Given the description of an element on the screen output the (x, y) to click on. 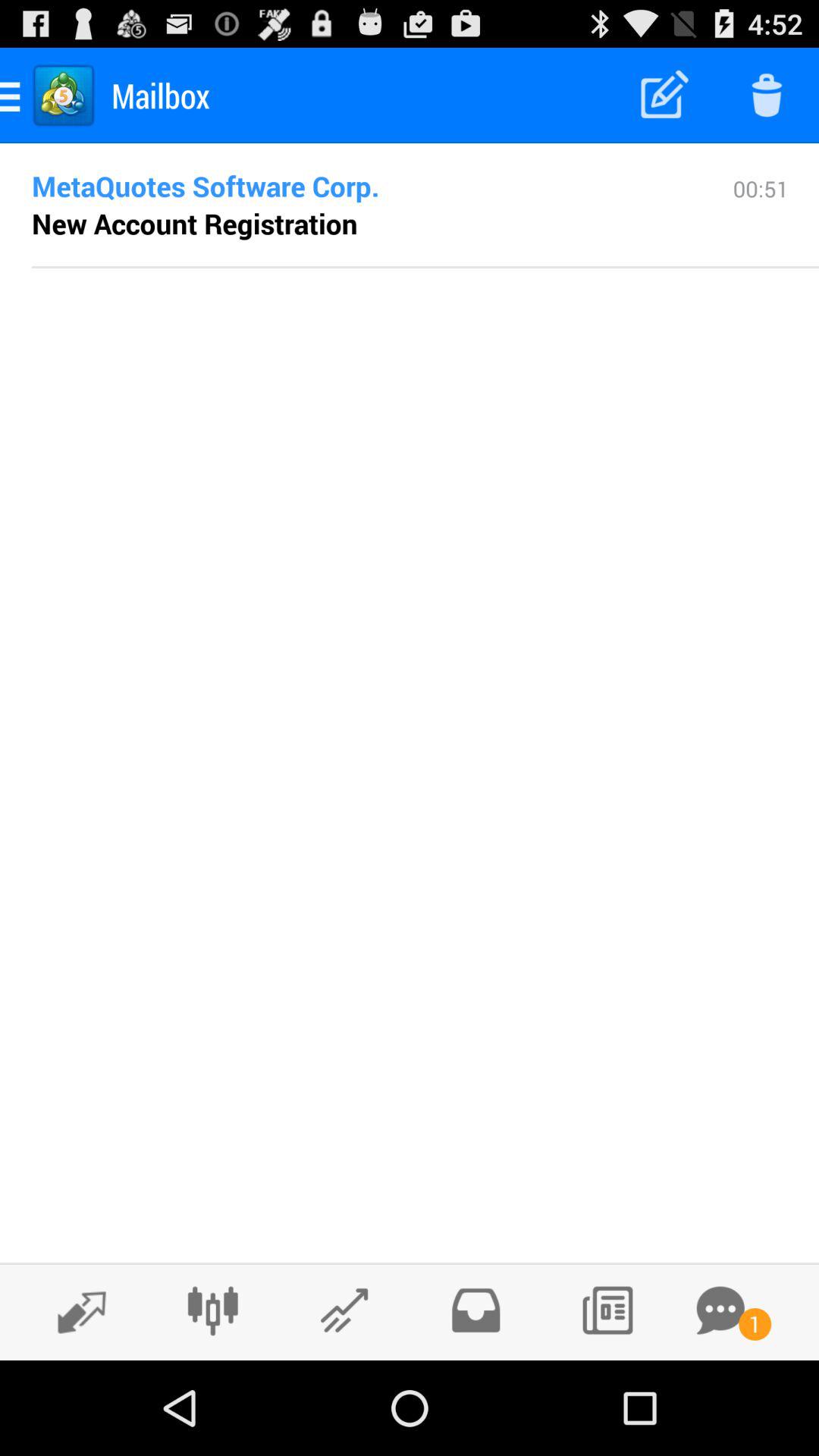
share option (344, 1310)
